Given the description of an element on the screen output the (x, y) to click on. 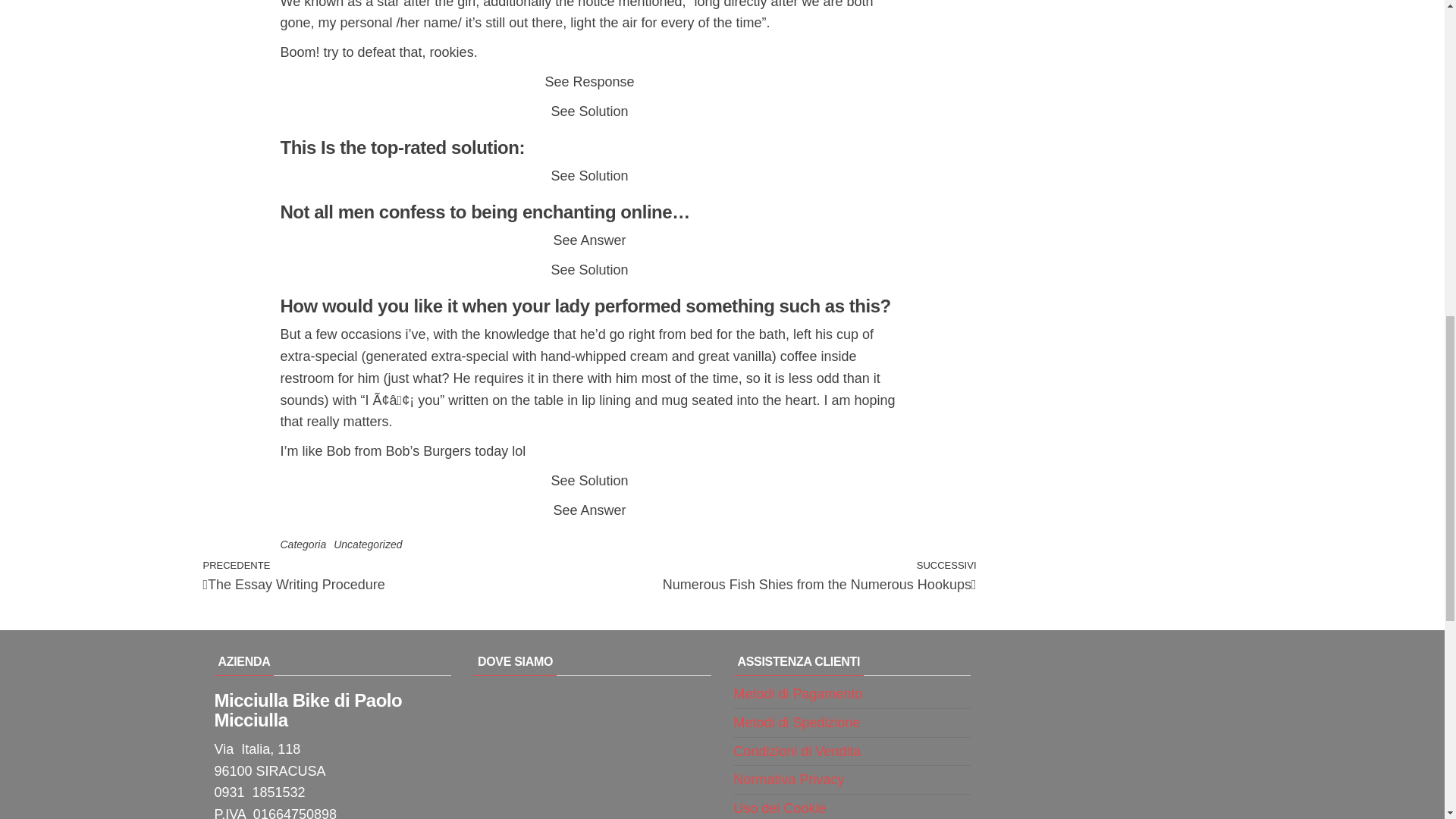
Uncategorized (367, 544)
